Given the description of an element on the screen output the (x, y) to click on. 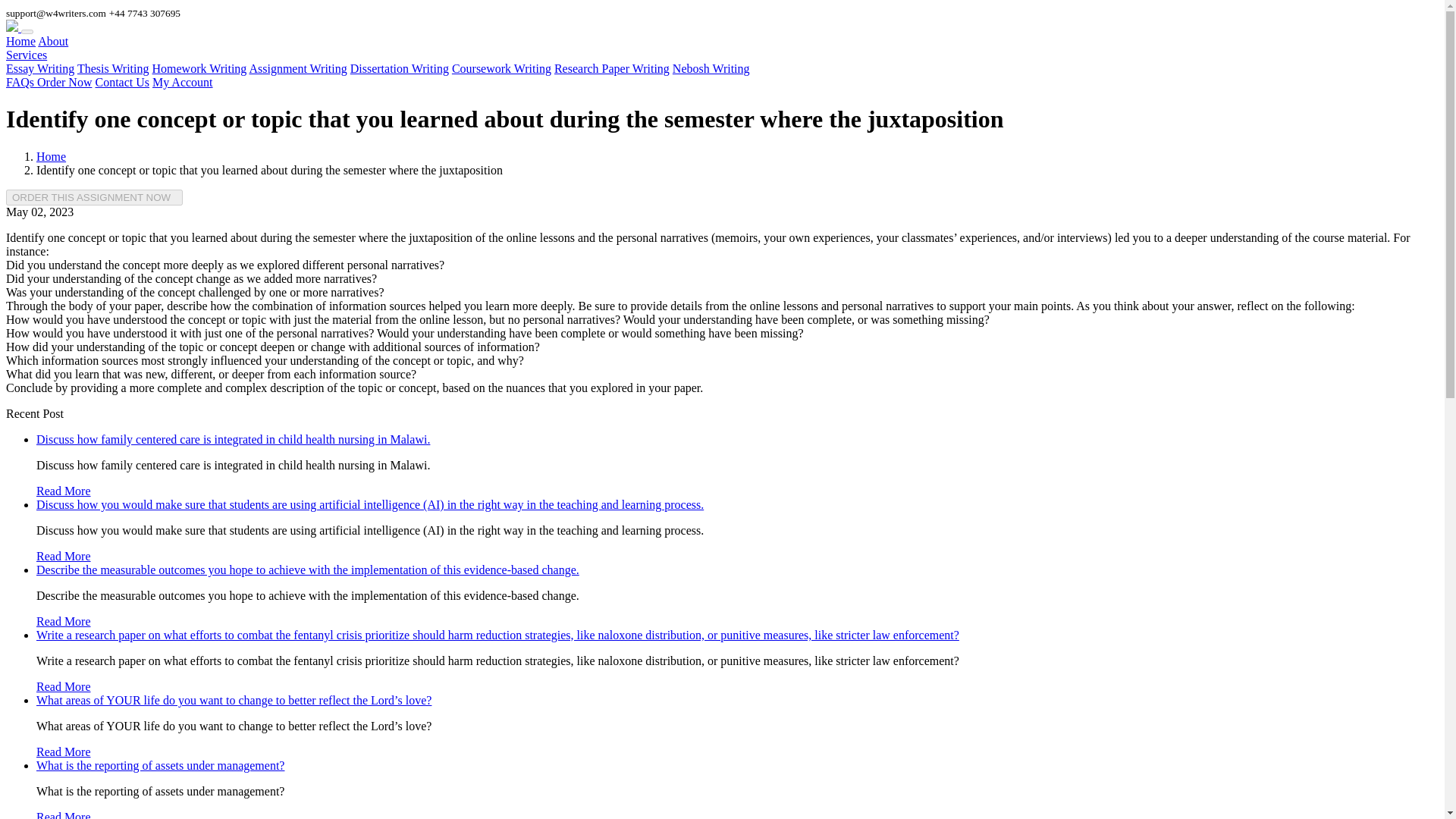
Home (50, 155)
ORDER THIS ASSIGNMENT NOW   (94, 197)
FAQs (21, 82)
Assignment Writing (297, 68)
Nebosh Writing (710, 68)
Research Paper Writing (611, 68)
Read More (63, 490)
Homework Writing (198, 68)
ORDER THIS ASSIGNMENT NOW   (94, 197)
Dissertation Writing (399, 68)
Order Now (64, 82)
Coursework Writing (501, 68)
